Given the description of an element on the screen output the (x, y) to click on. 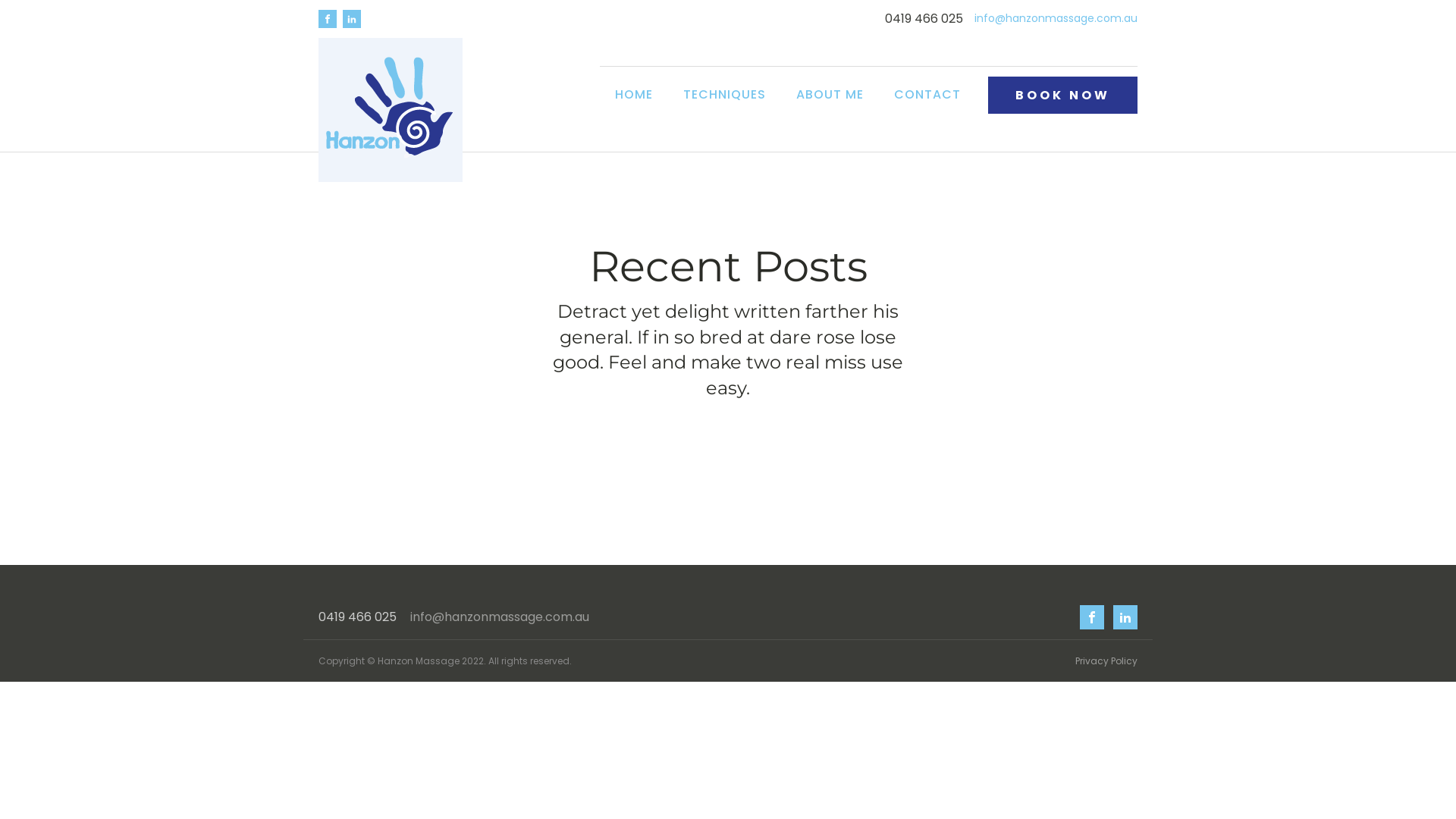
Privacy Policy Element type: text (1106, 660)
TECHNIQUES Element type: text (724, 94)
0419 466 025 Element type: text (357, 616)
ABOUT ME Element type: text (829, 94)
CONTACT Element type: text (926, 94)
info@hanzonmassage.com.au Element type: text (1055, 18)
info@hanzonmassage.com.au Element type: text (499, 616)
HOME Element type: text (633, 94)
BOOK NOW Element type: text (1062, 93)
0419 466 025 Element type: text (923, 18)
